Given the description of an element on the screen output the (x, y) to click on. 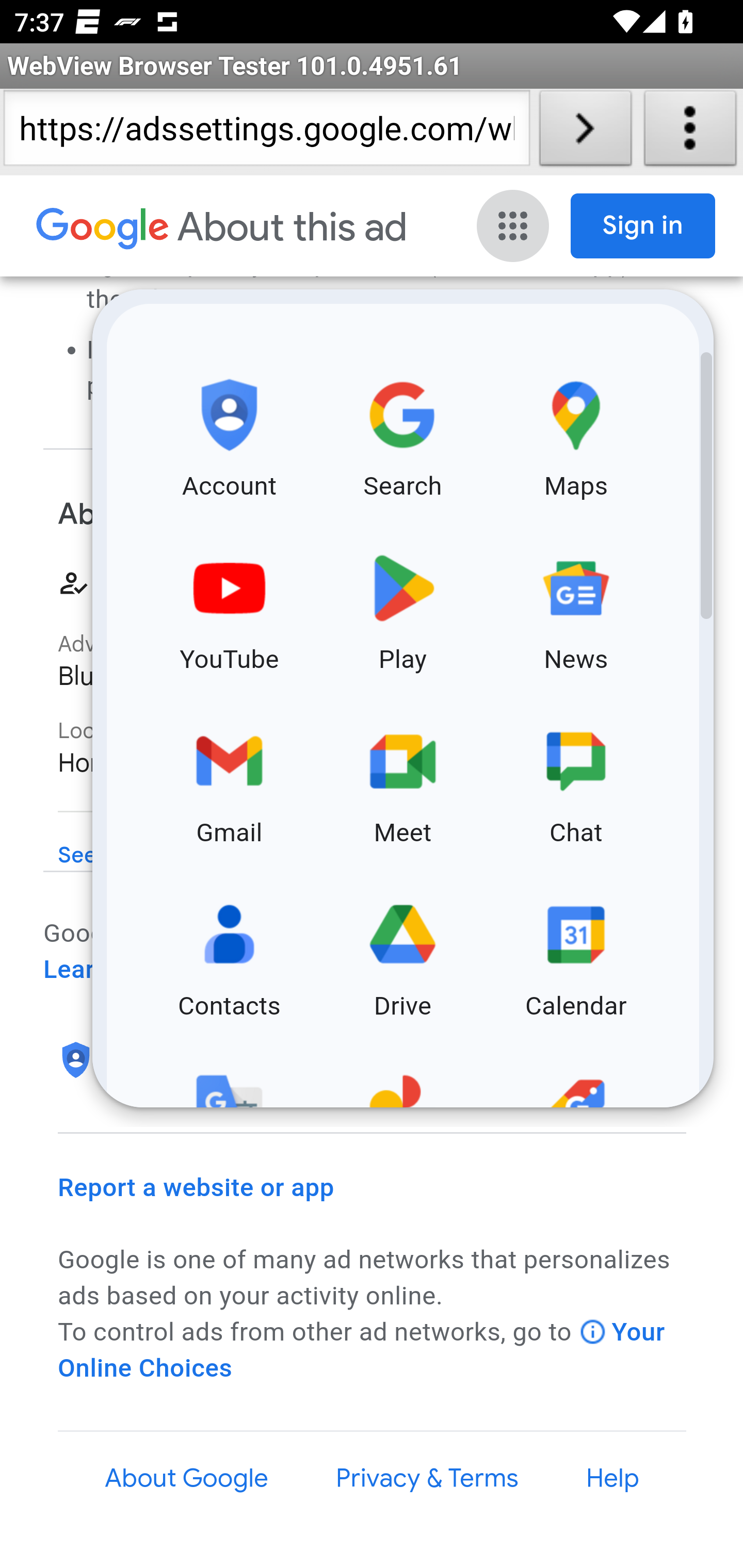
https://adssettings.google.com/whythisad (266, 132)
Load URL (585, 132)
About WebView (690, 132)
Google apps (514, 226)
Sign in (643, 226)
Report a website or app (196, 1187)
Your Online Choices (361, 1349)
About Google (186, 1478)
Privacy & Terms (426, 1478)
Help (612, 1478)
